Given the description of an element on the screen output the (x, y) to click on. 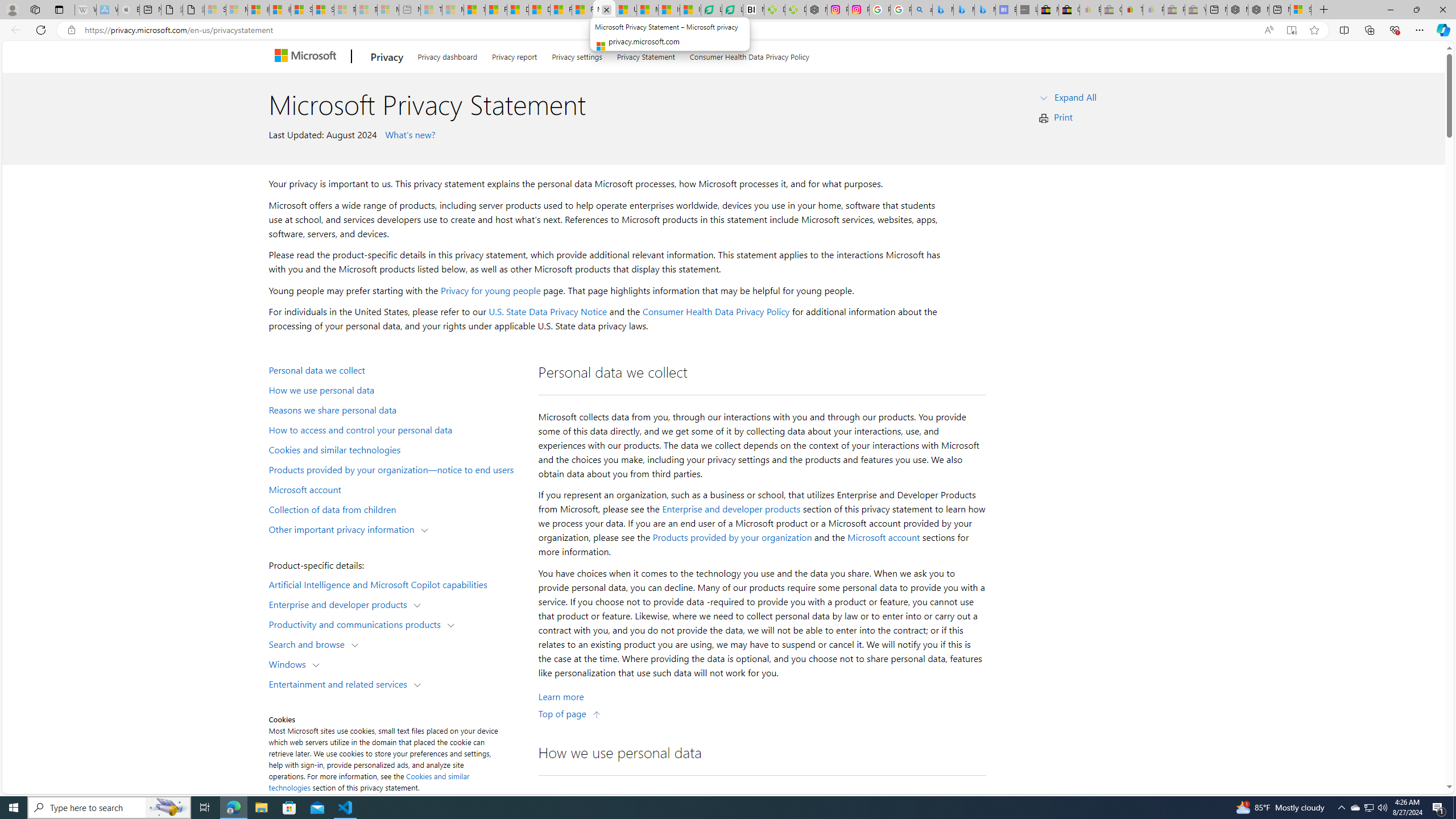
U.S. State Data Privacy Notice (548, 311)
Nordace - Nordace Edin Collection (815, 9)
Sign in to your Microsoft account - Sleeping (215, 9)
Threats and offensive language policy | eBay (1131, 9)
Food and Drink - MSN (496, 9)
How to access and control your personal data (395, 428)
Windows (289, 663)
Privacy settings (577, 54)
Search and browse (308, 643)
Learn More about Personal data we collect (560, 696)
